Given the description of an element on the screen output the (x, y) to click on. 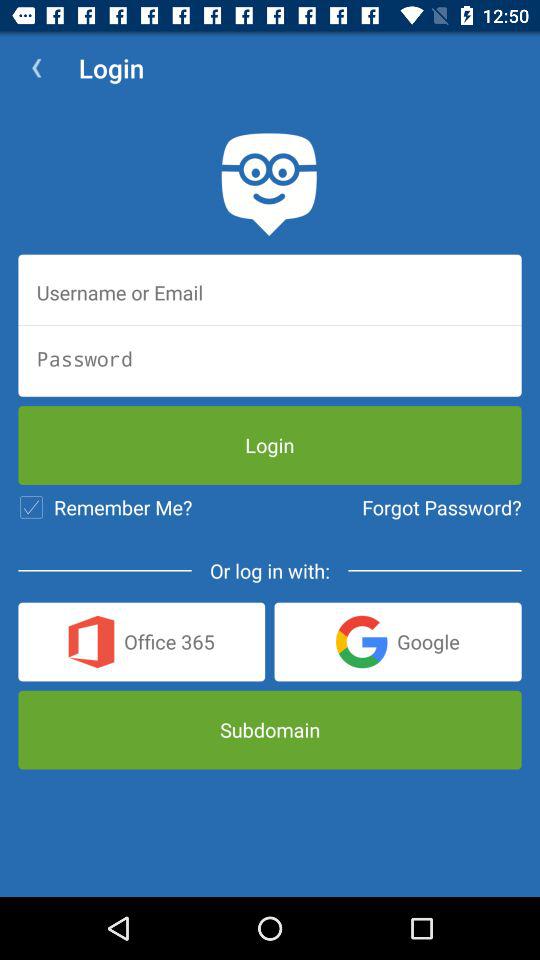
select item to the right of the remember me? icon (441, 507)
